Given the description of an element on the screen output the (x, y) to click on. 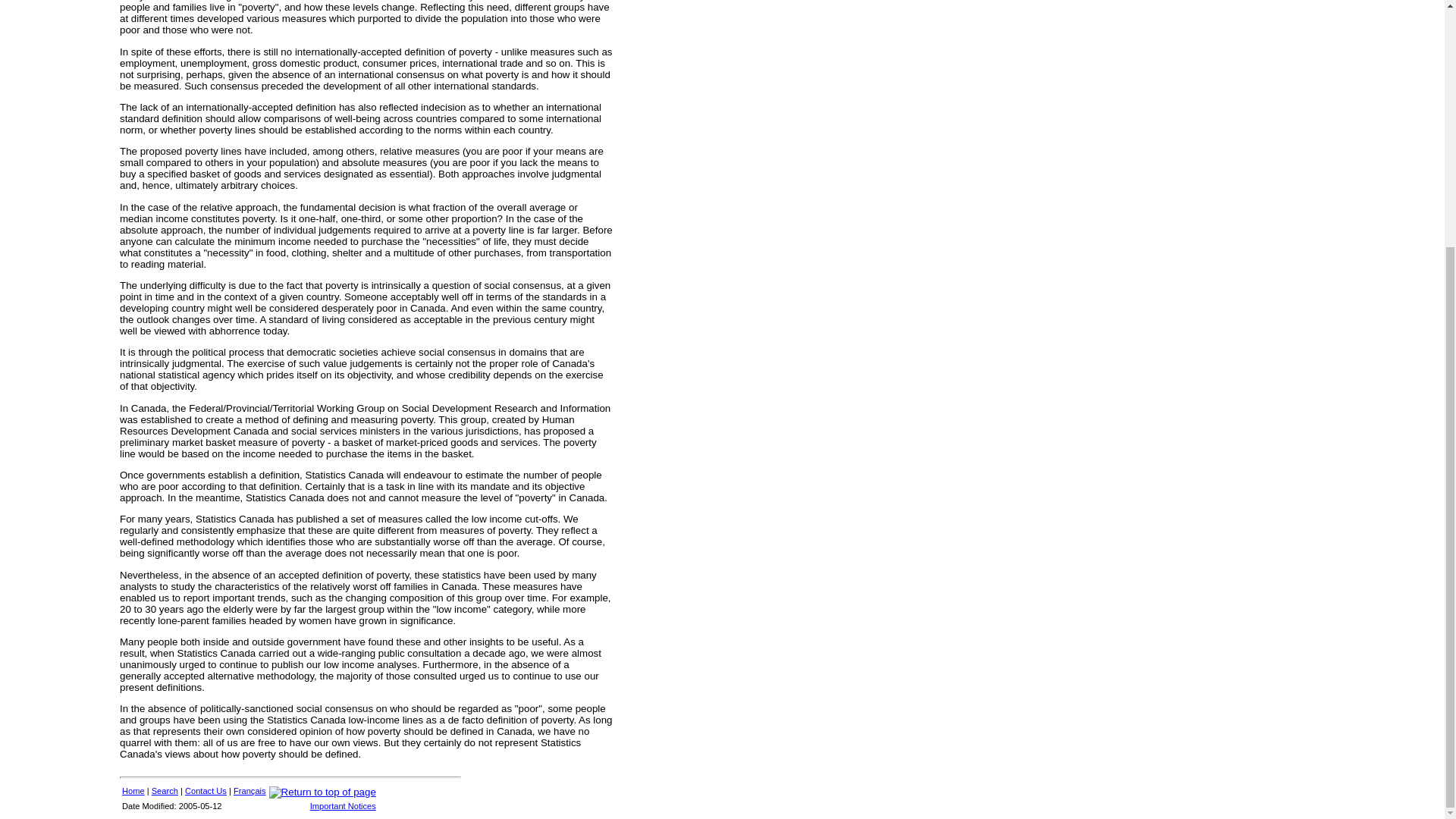
Important Notices (342, 805)
Search (164, 790)
Contact Us (205, 790)
Home (133, 790)
